Given the description of an element on the screen output the (x, y) to click on. 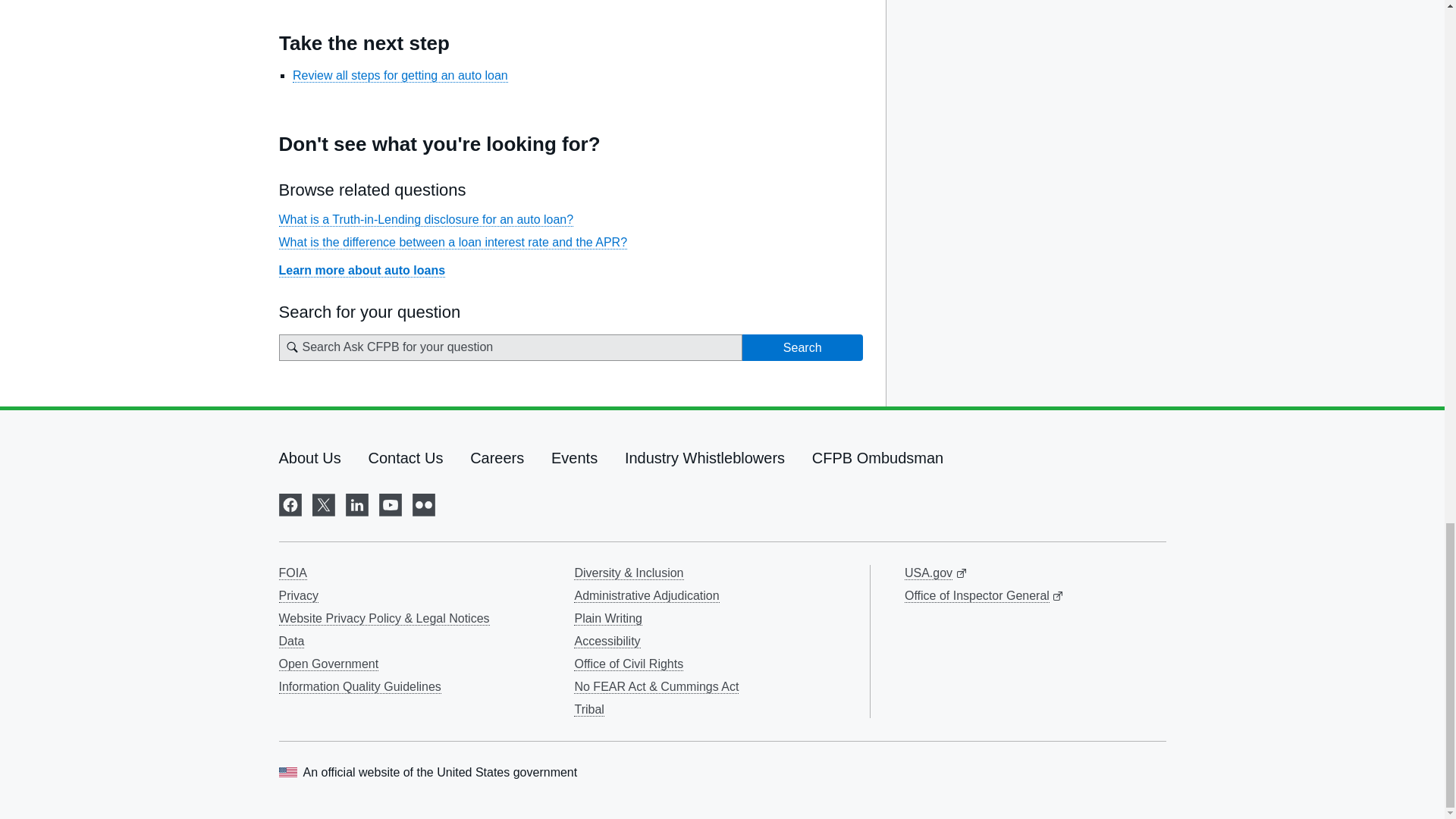
Search Ask CFPB for your question (510, 347)
